Given the description of an element on the screen output the (x, y) to click on. 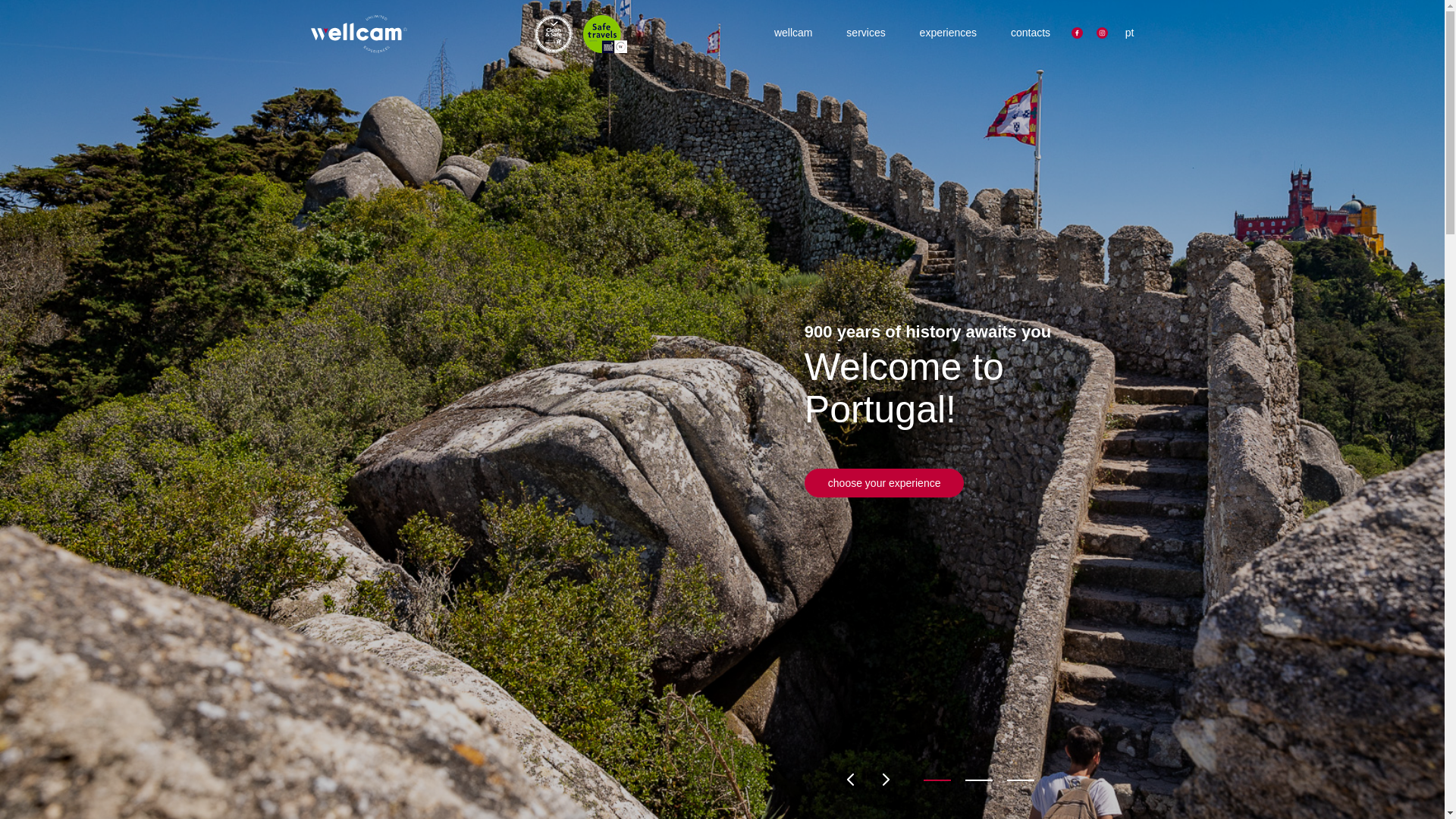
choose your experience (884, 482)
contacts (1024, 32)
experiences (942, 32)
services (859, 32)
wellcam (787, 32)
